Given the description of an element on the screen output the (x, y) to click on. 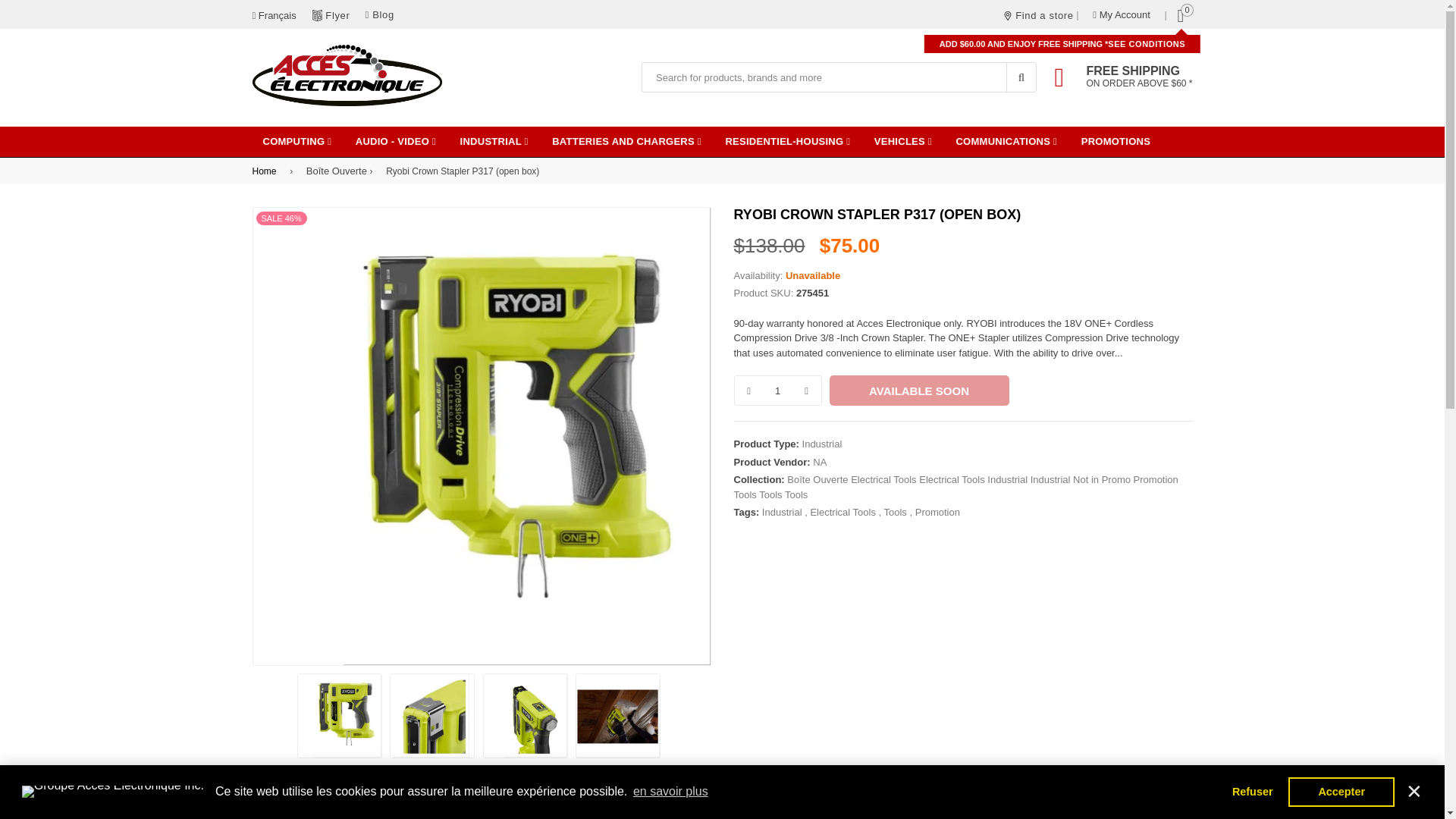
Find a store (1038, 14)
SUBMIT (1021, 77)
COMPUTING (296, 141)
Refuser (1251, 791)
Flyer (336, 15)
Blog (379, 14)
en savoir plus (670, 791)
SEE CONDITIONS (1146, 43)
Back to the home page (266, 170)
1 (777, 389)
Accepter (1341, 791)
Quantity (777, 390)
